Given the description of an element on the screen output the (x, y) to click on. 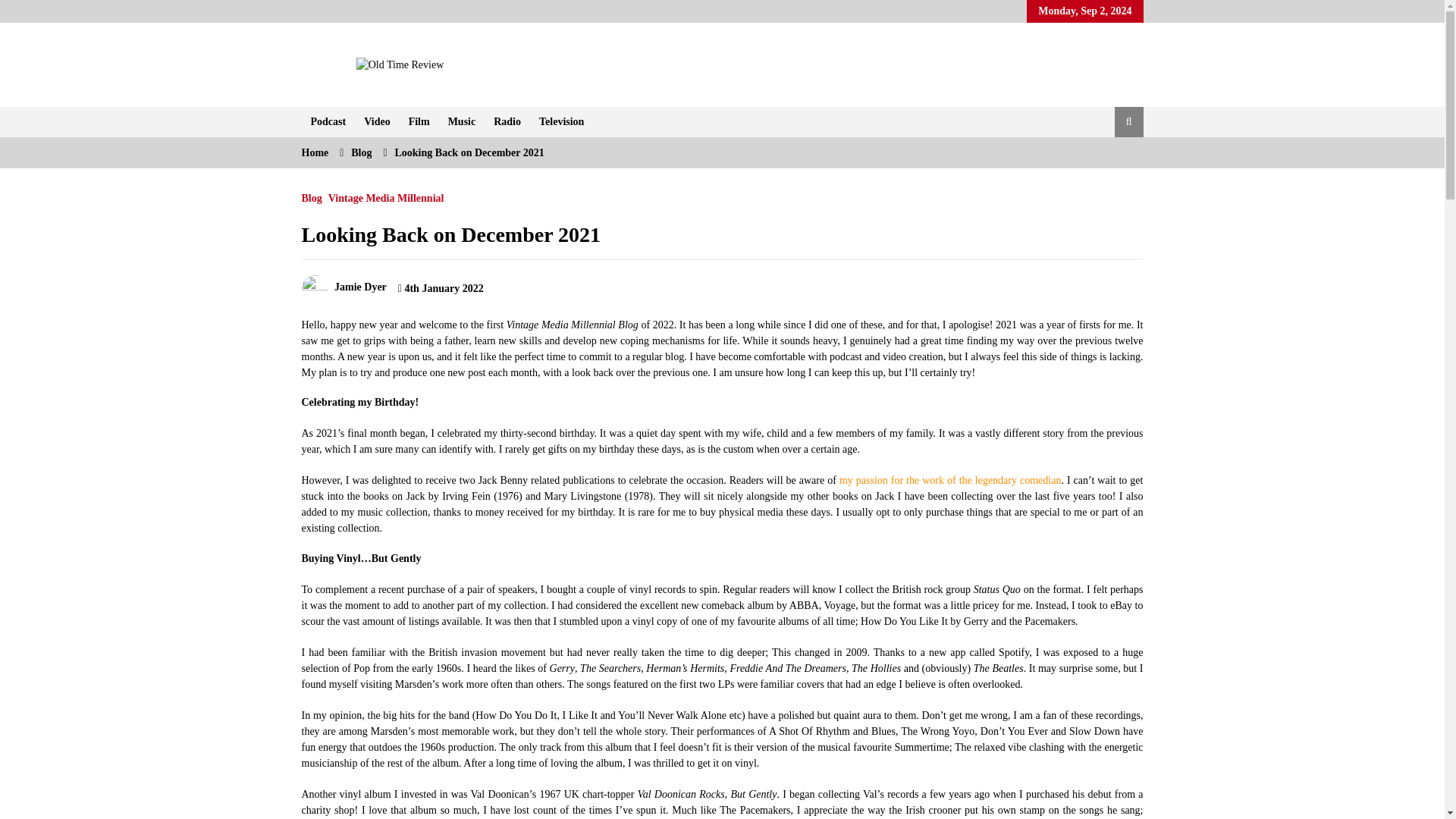
Video (376, 122)
Looking Back on December 2021 (468, 152)
Looking Back on December 2021 (451, 234)
Blog (360, 152)
Radio (506, 122)
Podcast (328, 122)
Jamie Dyer (344, 286)
Home (315, 152)
Television (560, 122)
Music (461, 122)
